Given the description of an element on the screen output the (x, y) to click on. 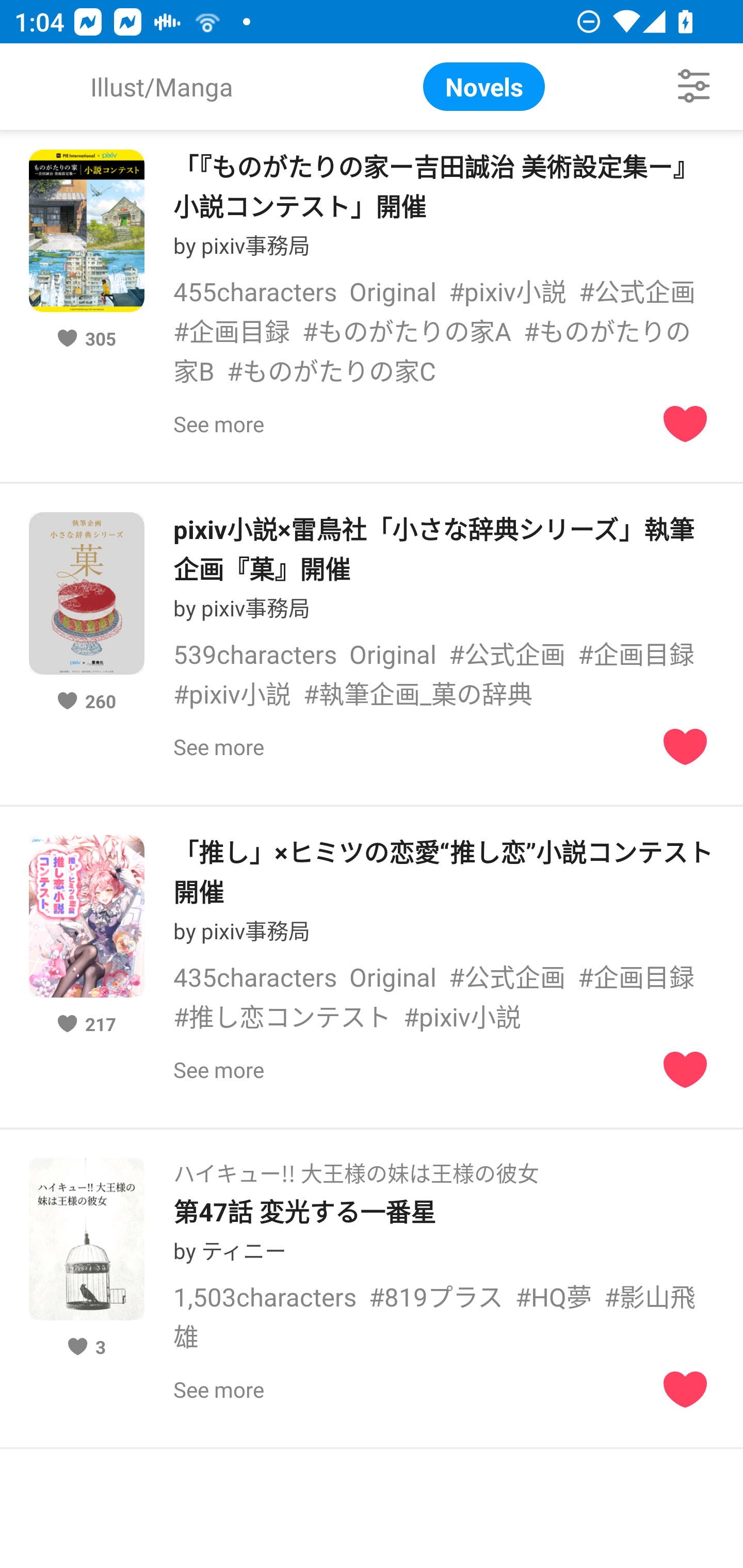
Illust/Manga (161, 86)
Novels (483, 86)
ハイキュー!! 大王様の妹は王様の彼女 (356, 1166)
